Given the description of an element on the screen output the (x, y) to click on. 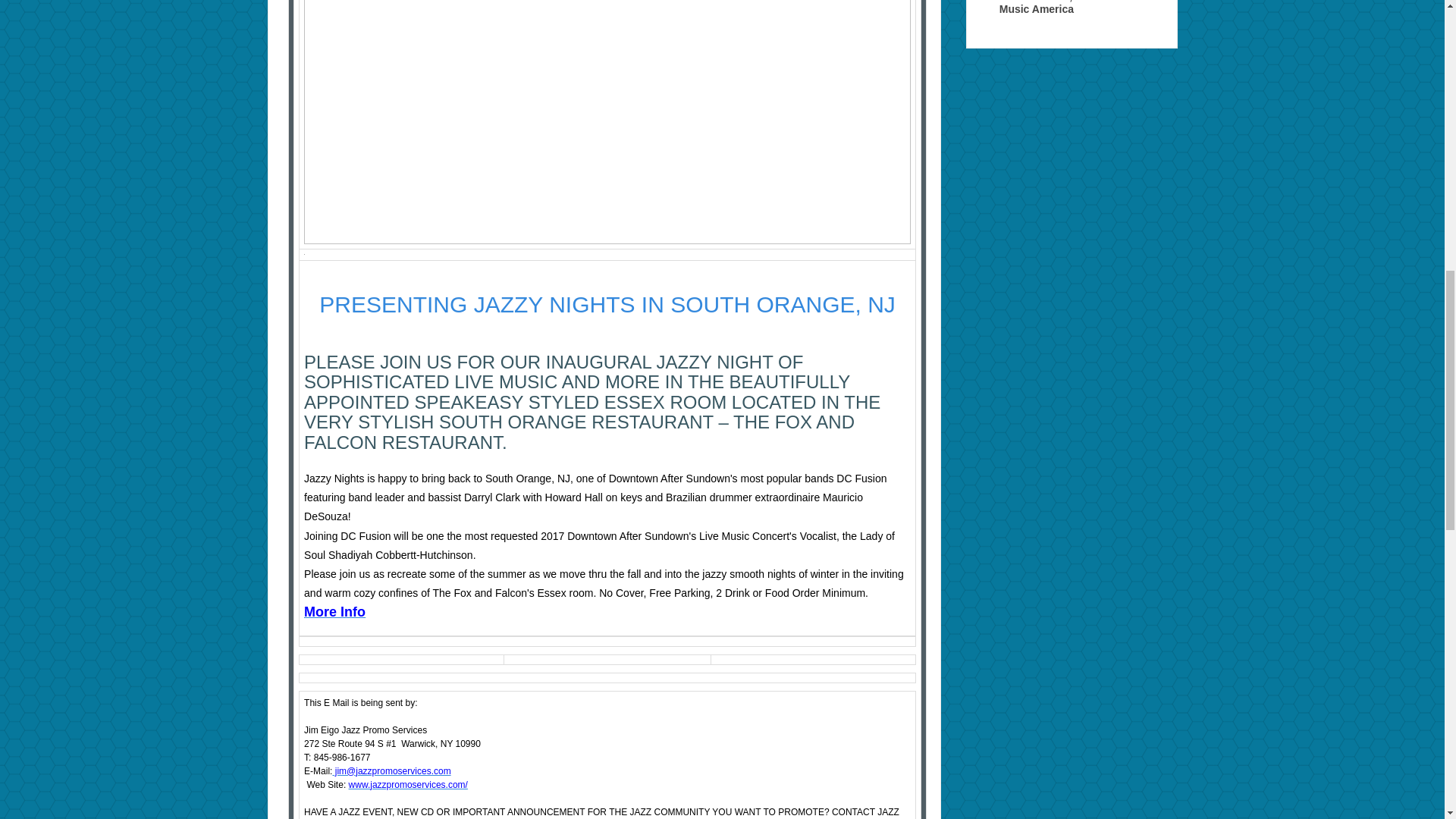
More Info (334, 611)
